Given the description of an element on the screen output the (x, y) to click on. 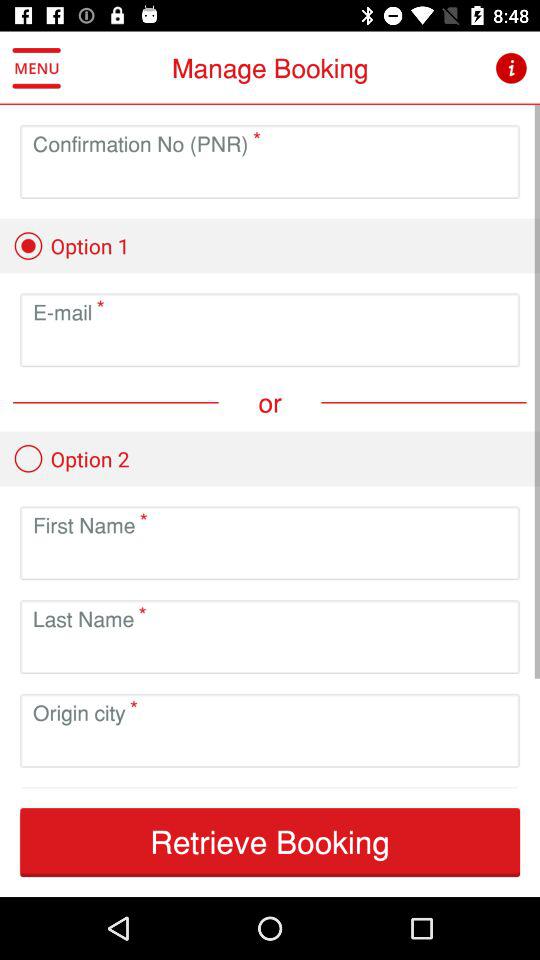
turn on the item above the confirmation no (pnr) (36, 68)
